Given the description of an element on the screen output the (x, y) to click on. 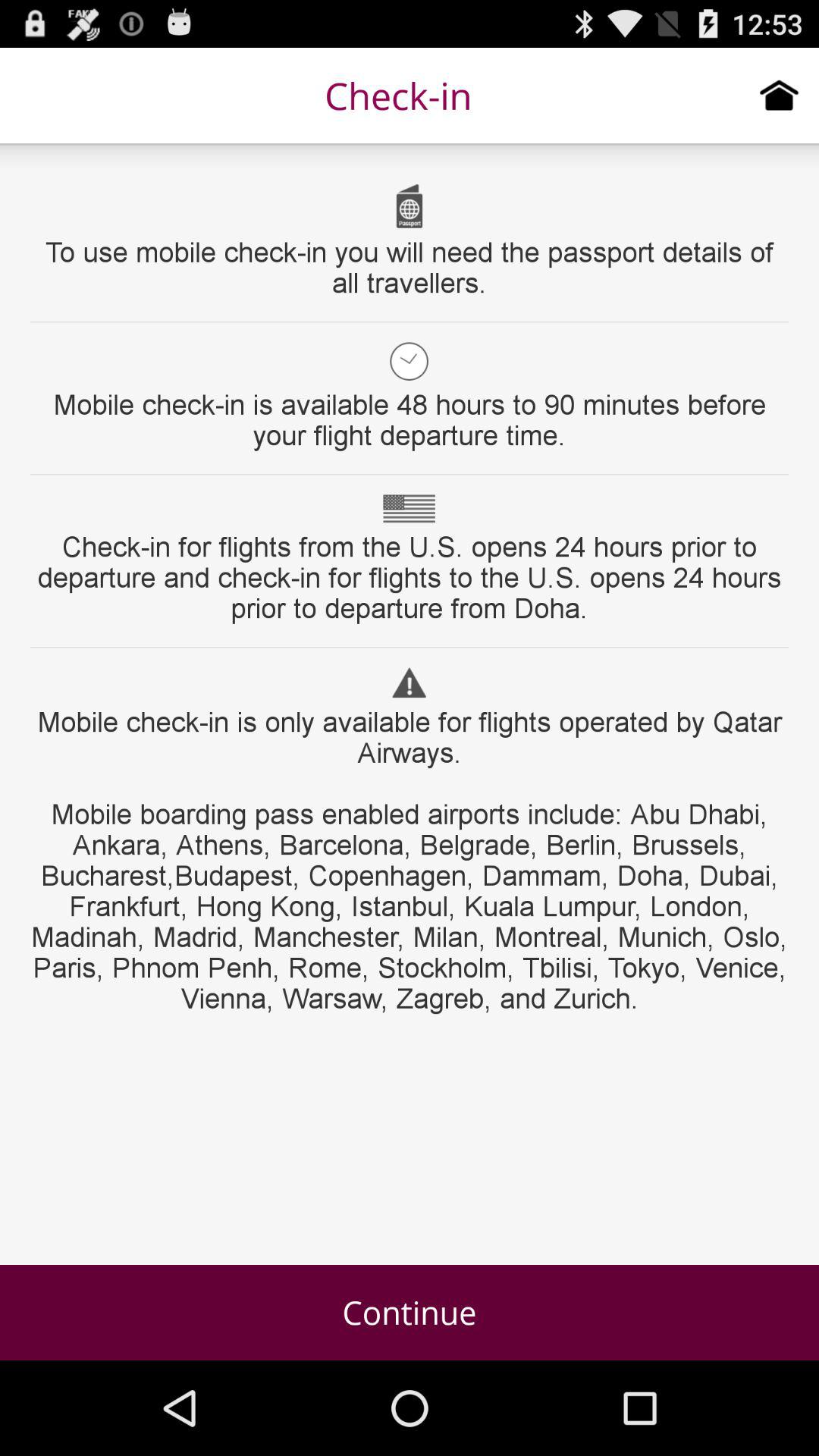
choose item at the top right corner (779, 95)
